Given the description of an element on the screen output the (x, y) to click on. 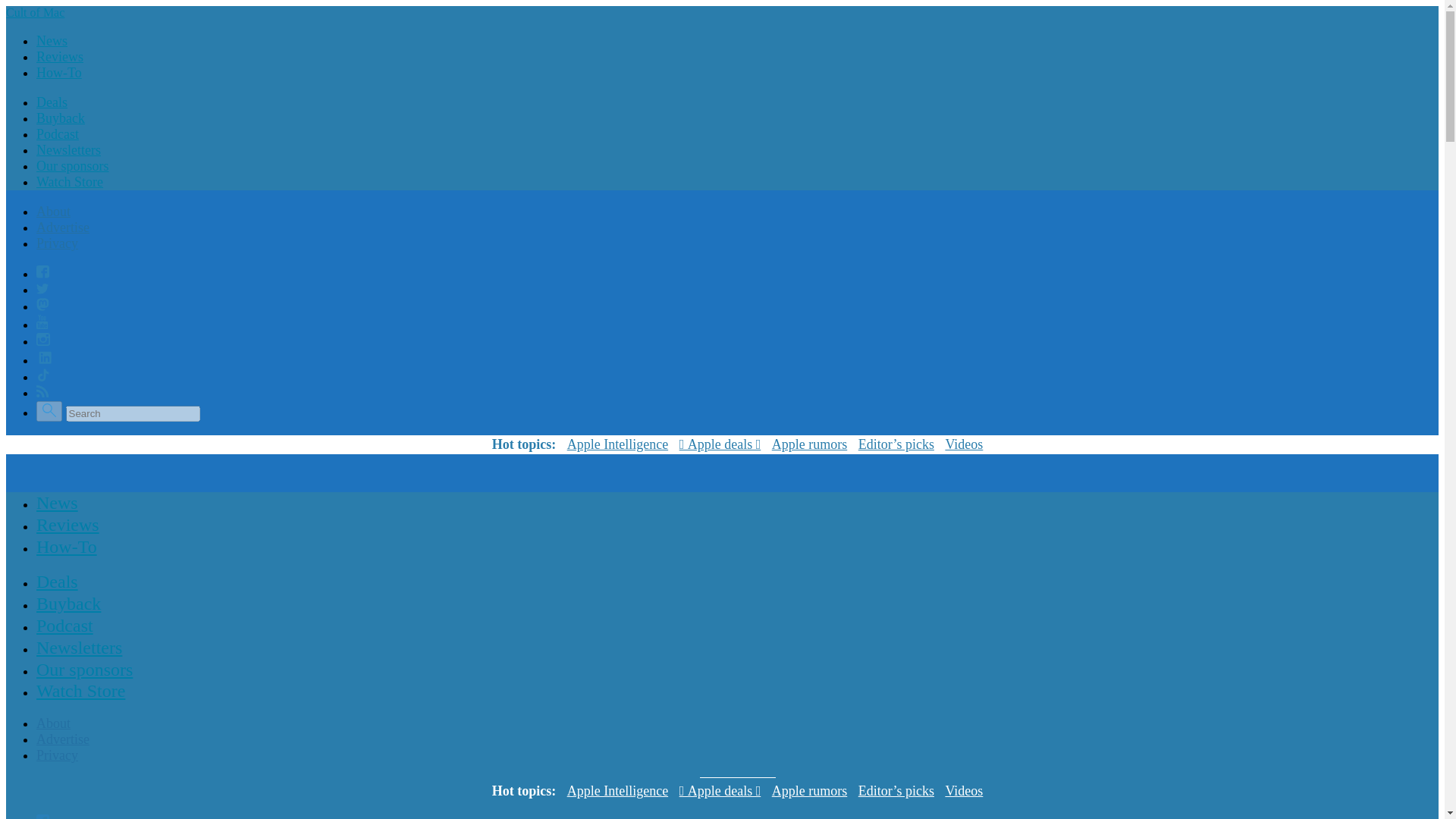
Apple Intelligence (617, 791)
About (52, 723)
About (52, 211)
Deals (57, 581)
Our sponsors (72, 165)
Hot topics: (524, 444)
Videos (963, 791)
How-To (66, 546)
Watch Store (80, 690)
Advertise (62, 227)
Apple rumors (809, 444)
Apple deals  (720, 791)
How-To (58, 72)
Cult of Mac (34, 11)
News (51, 40)
